Given the description of an element on the screen output the (x, y) to click on. 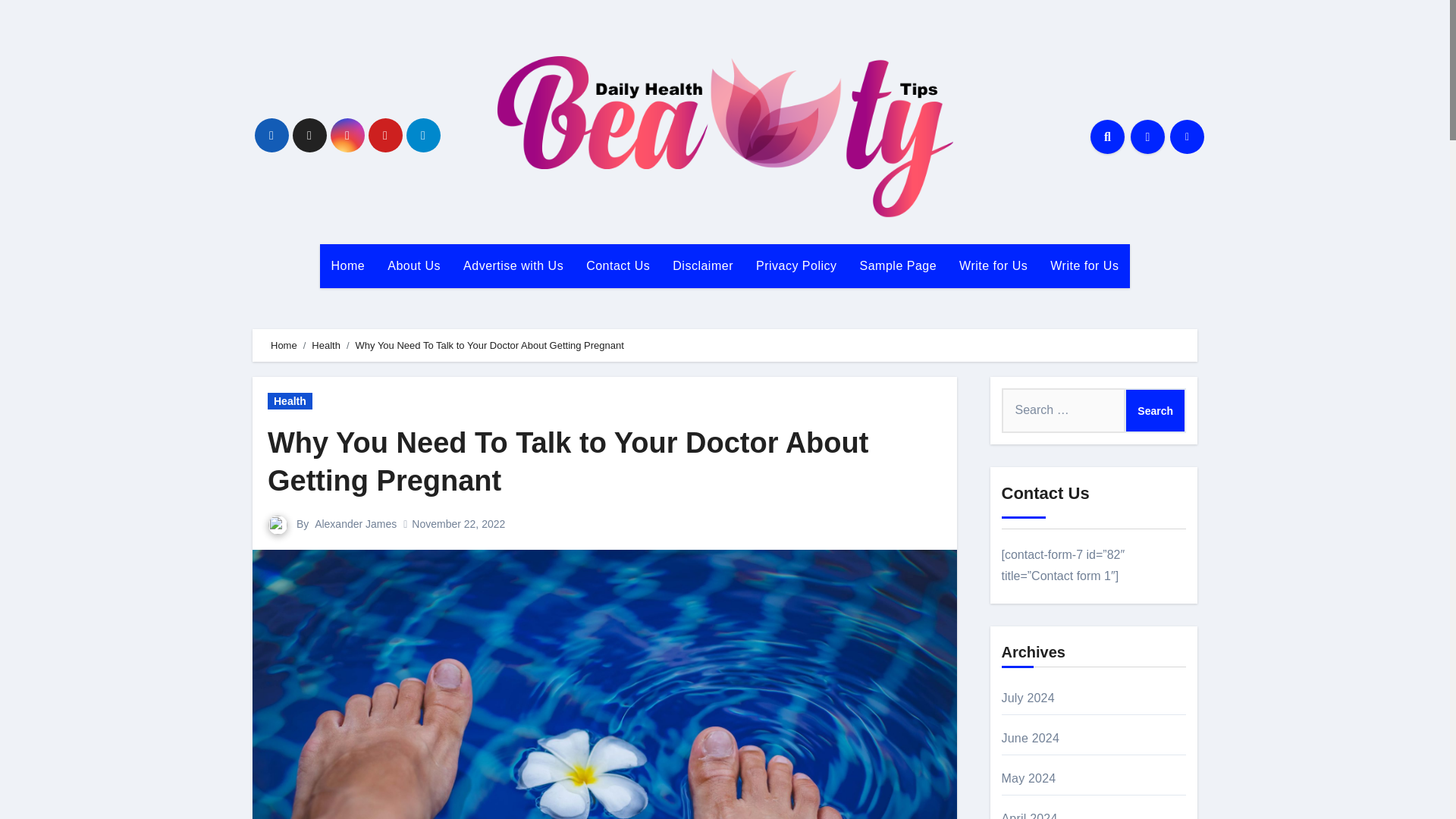
Disclaimer (702, 266)
November 22, 2022 (458, 523)
Search (1155, 410)
Advertise with Us (513, 266)
Contact Us (618, 266)
Alexander James (355, 523)
Home (348, 266)
Health (290, 401)
Health (325, 345)
Search (1155, 410)
Sample Page (898, 266)
Home (348, 266)
Home (283, 345)
Write for Us (993, 266)
